Given the description of an element on the screen output the (x, y) to click on. 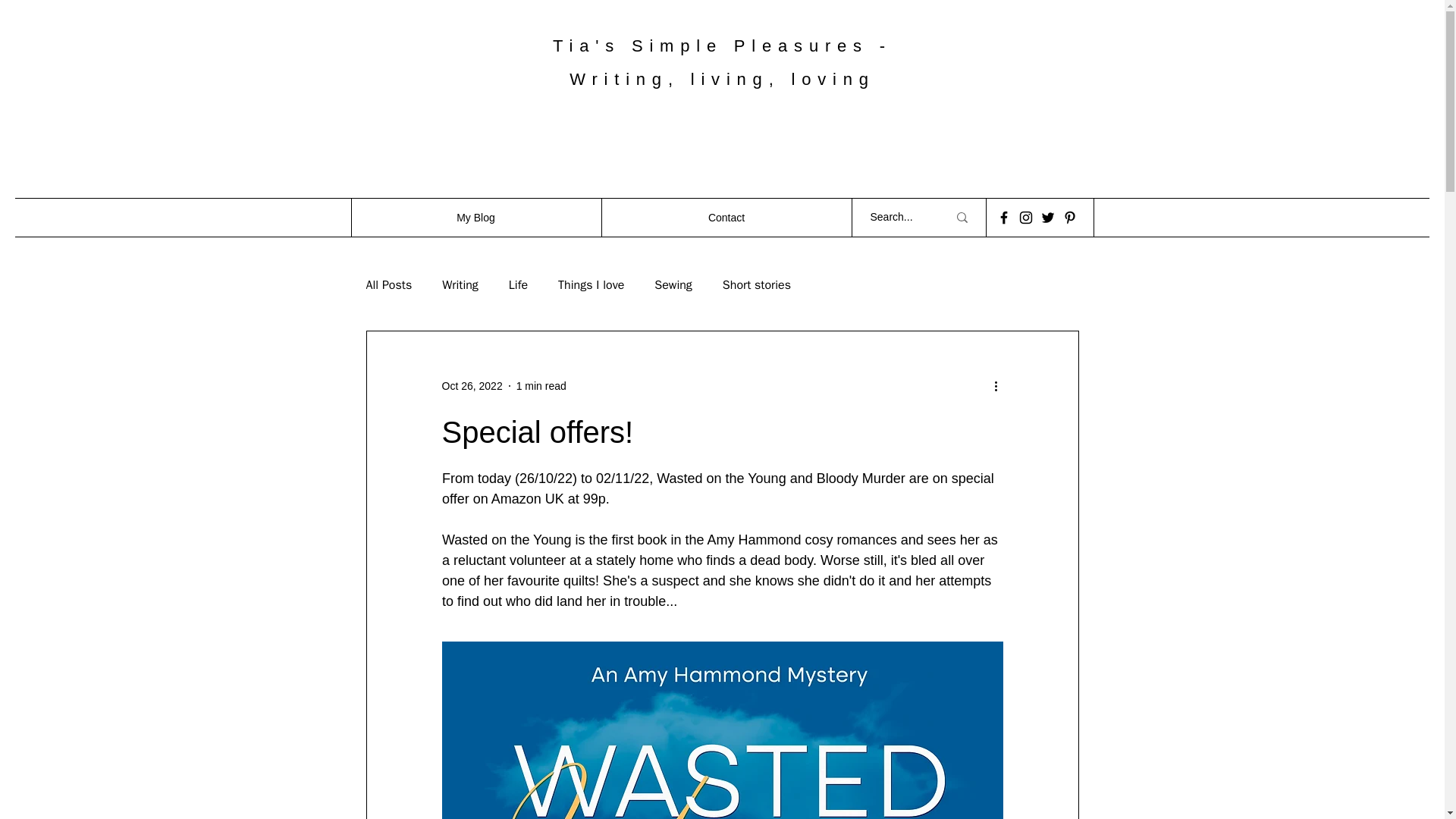
Life (517, 285)
Writing (460, 285)
Things I love (590, 285)
1 min read (541, 385)
My Blog (474, 217)
Short stories (756, 285)
All Posts (388, 285)
Contact (724, 217)
Sewing (673, 285)
Oct 26, 2022 (471, 385)
